Given the description of an element on the screen output the (x, y) to click on. 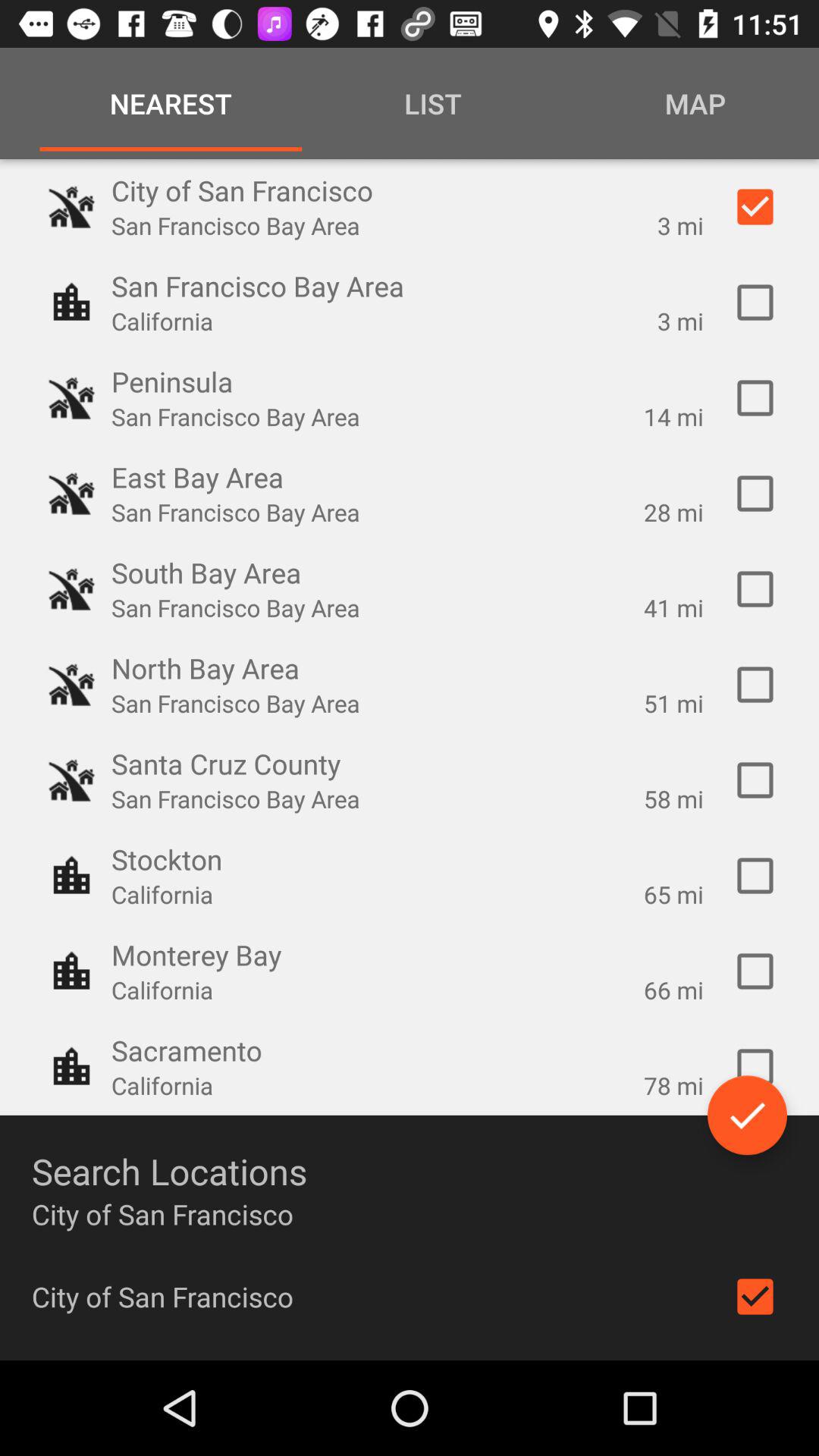
tick nearest city (755, 971)
